Given the description of an element on the screen output the (x, y) to click on. 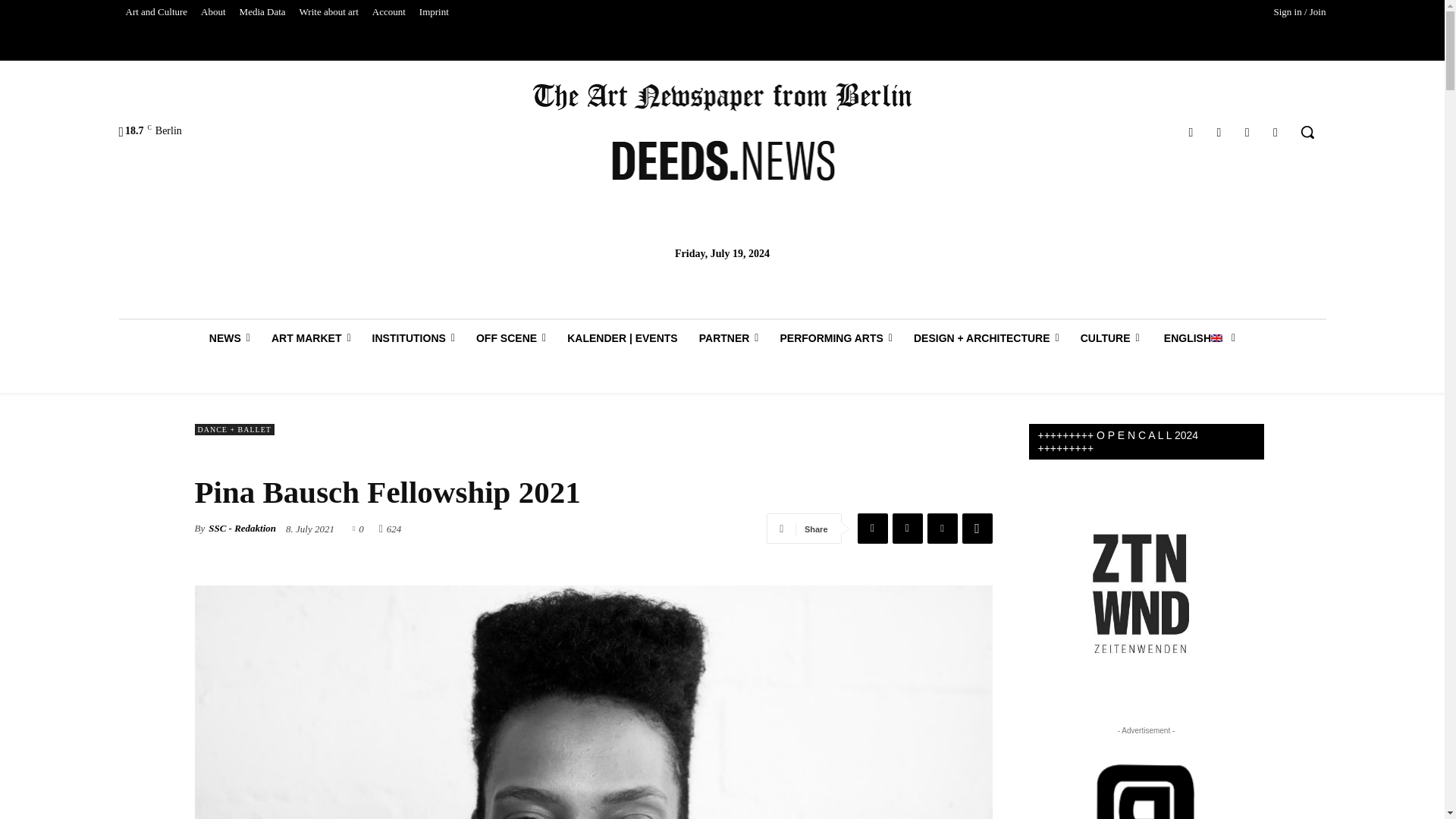
Twitter (1246, 132)
Youtube (1275, 132)
Instagram (1218, 132)
Facebook (1190, 132)
